Given the description of an element on the screen output the (x, y) to click on. 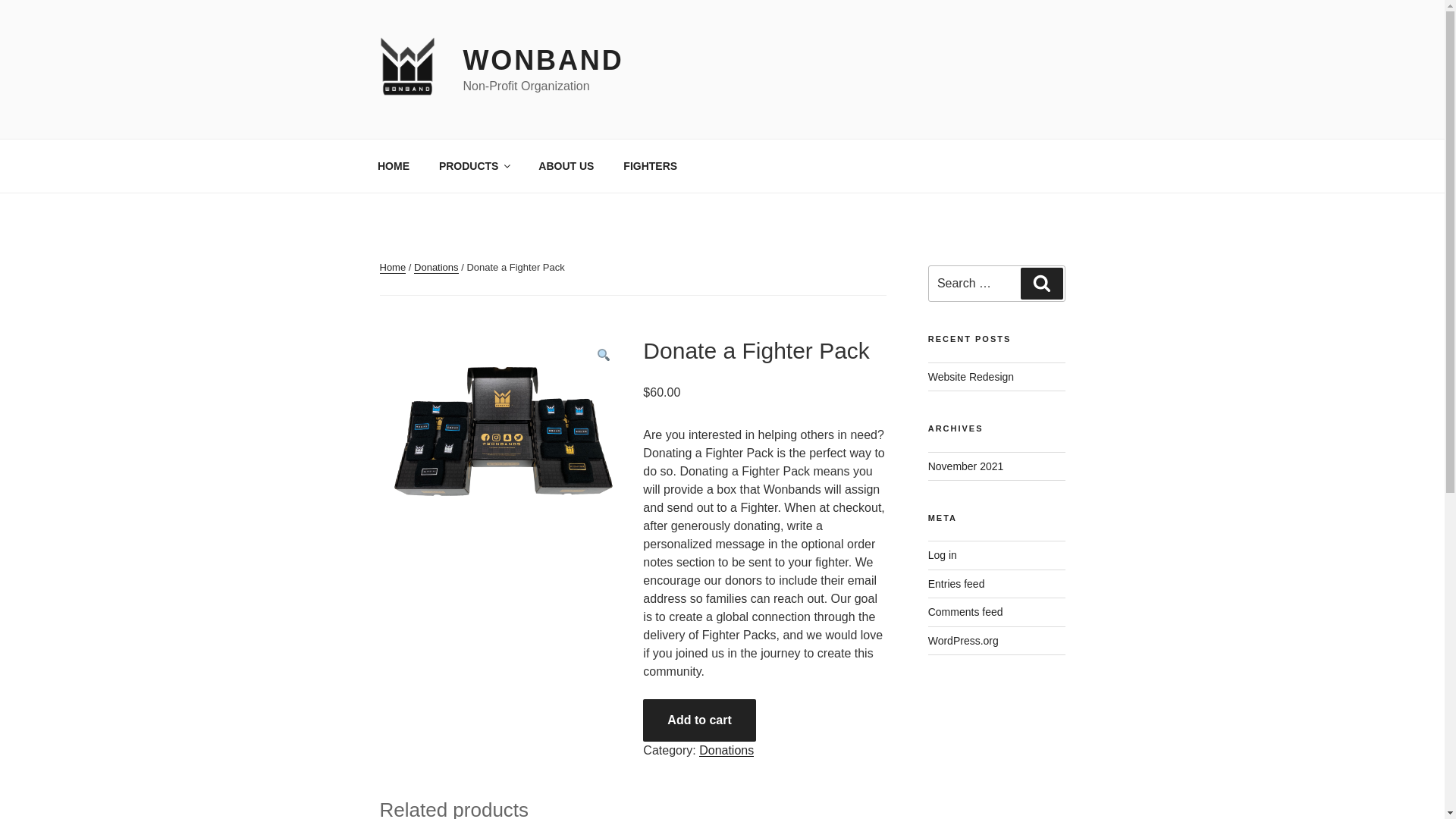
PRODUCTS (473, 165)
WordPress.org (963, 639)
Website Redesign (970, 377)
ABOUT US (566, 165)
Entries feed (956, 583)
HOME (393, 165)
Donations (726, 749)
Add to cart (699, 720)
WONBAND (543, 60)
Donations (435, 266)
